Given the description of an element on the screen output the (x, y) to click on. 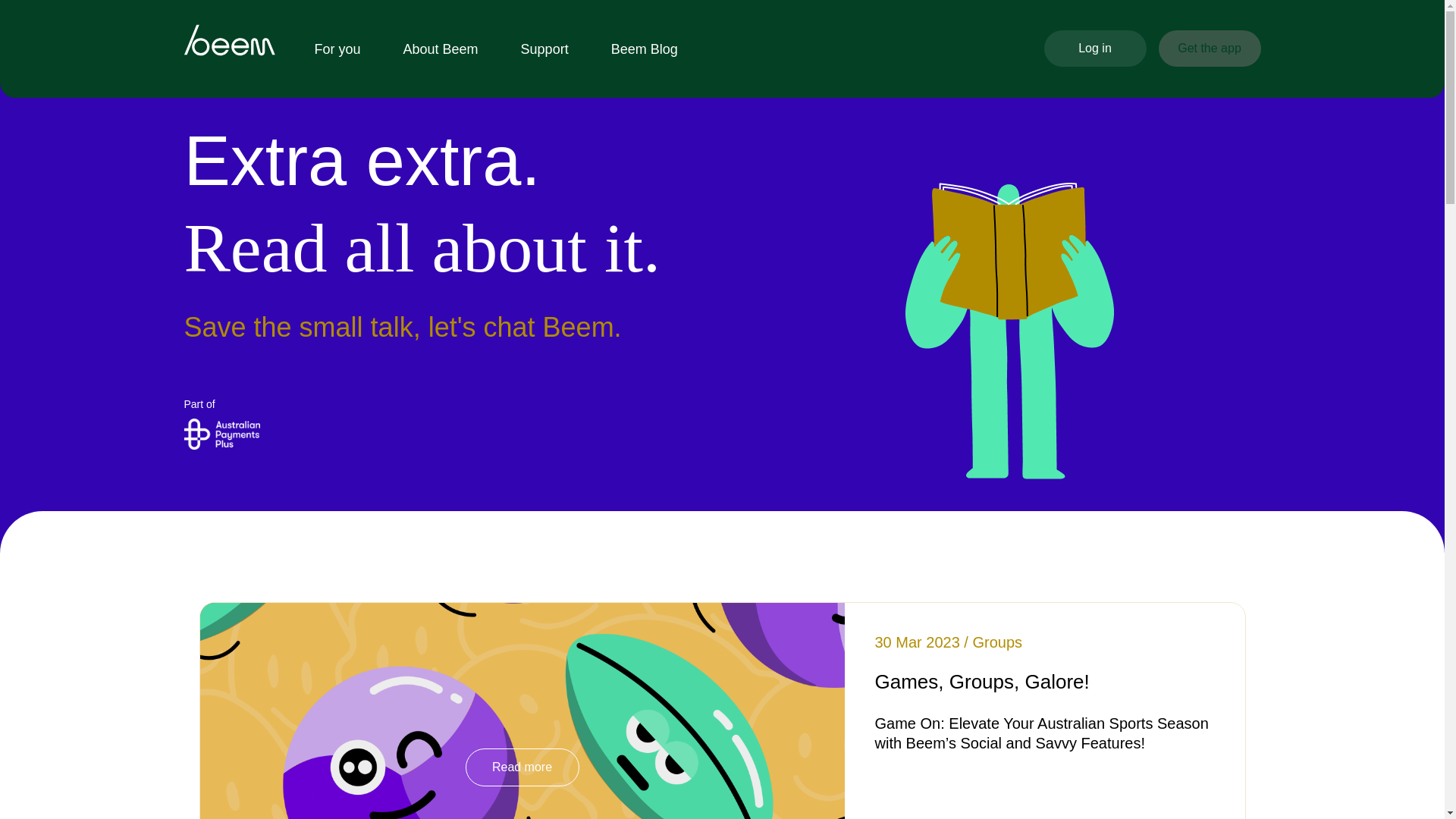
For you (336, 48)
About Beem (441, 48)
Log in (1094, 48)
Support (545, 48)
Read more (522, 767)
Get the app (1209, 48)
Beem Blog (644, 48)
